Given the description of an element on the screen output the (x, y) to click on. 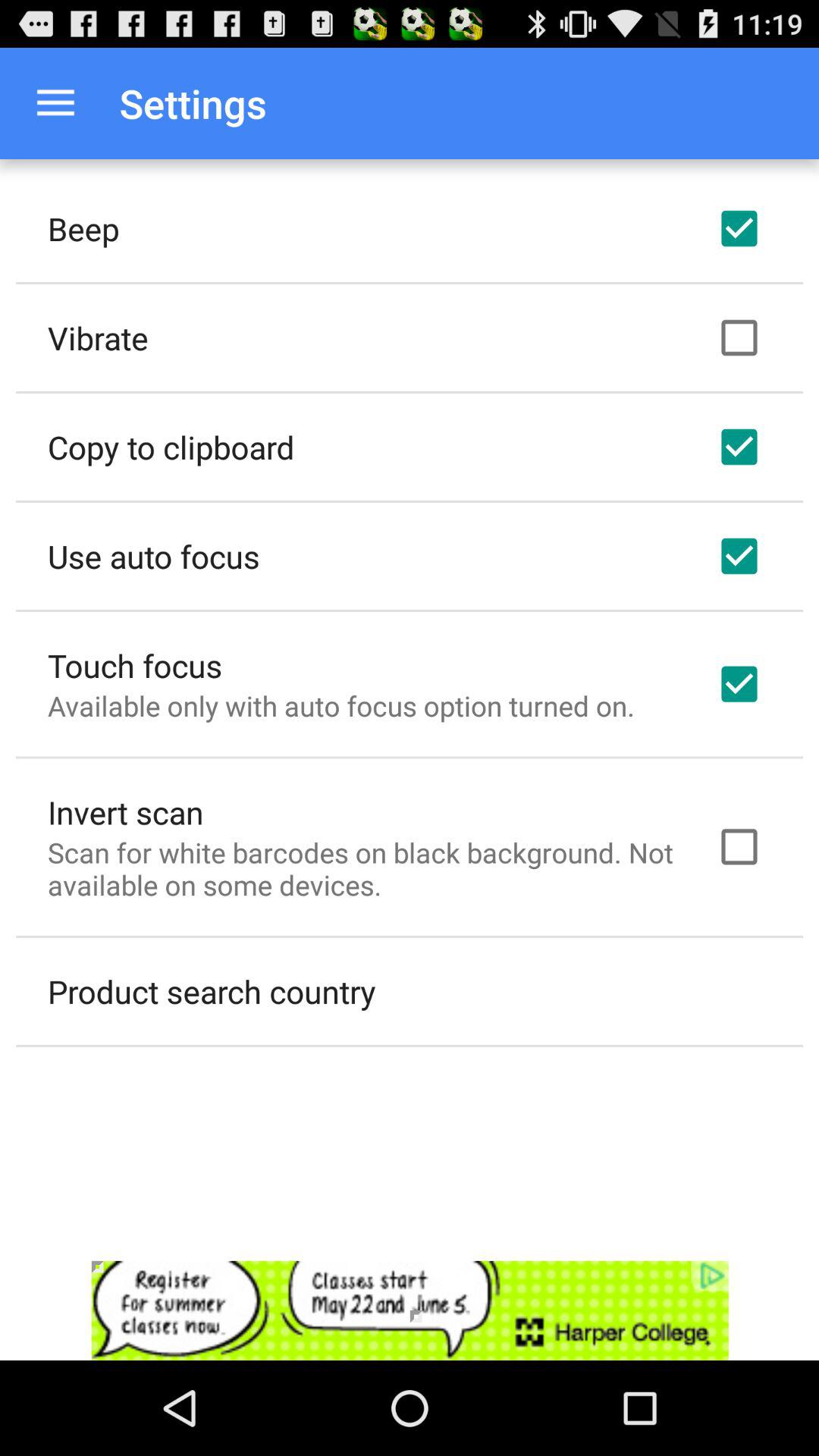
view advertisement (409, 1310)
